Given the description of an element on the screen output the (x, y) to click on. 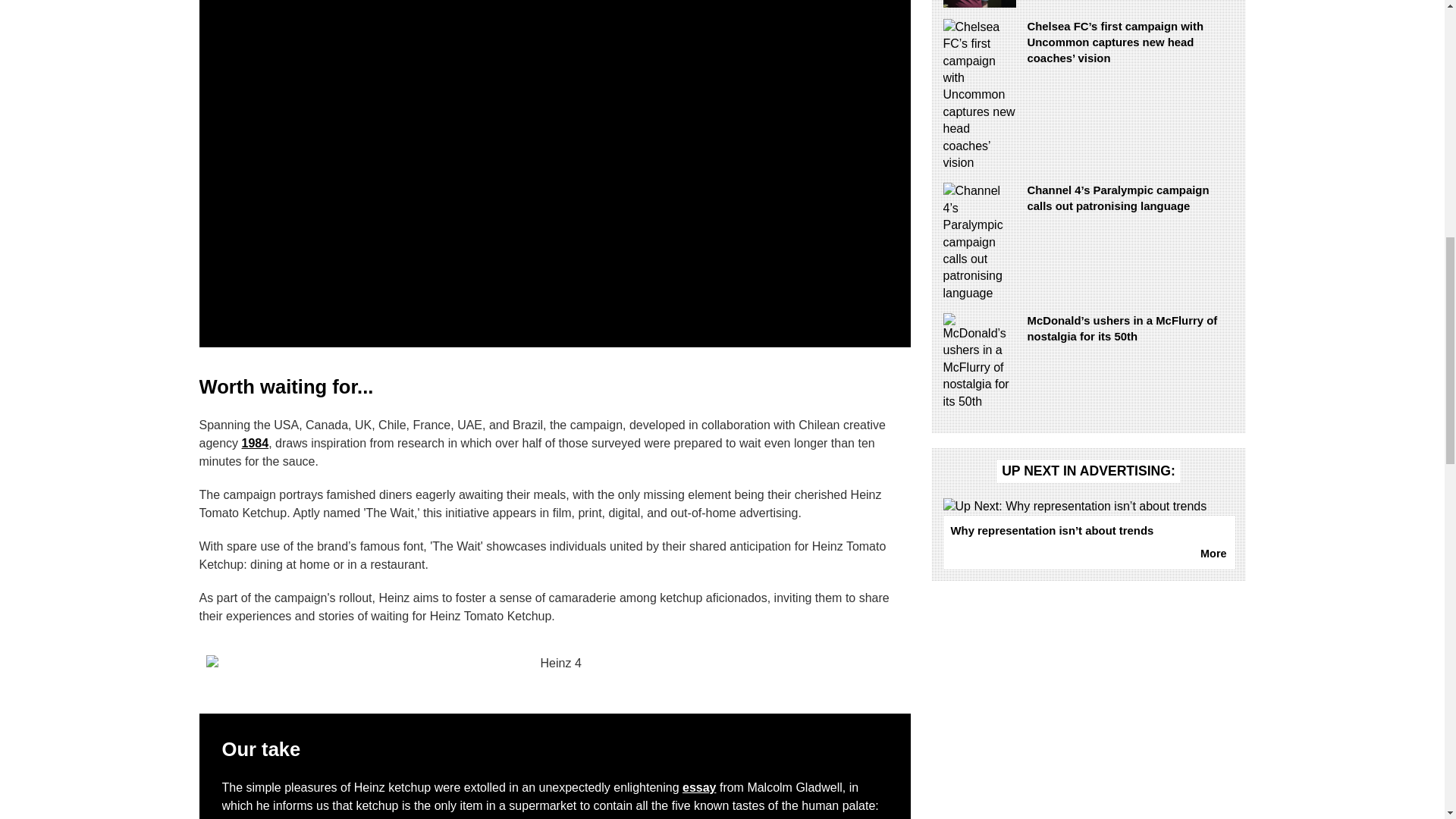
Is football club advertising the new beautiful game? (1088, 3)
essay (699, 787)
1984 (255, 442)
